Given the description of an element on the screen output the (x, y) to click on. 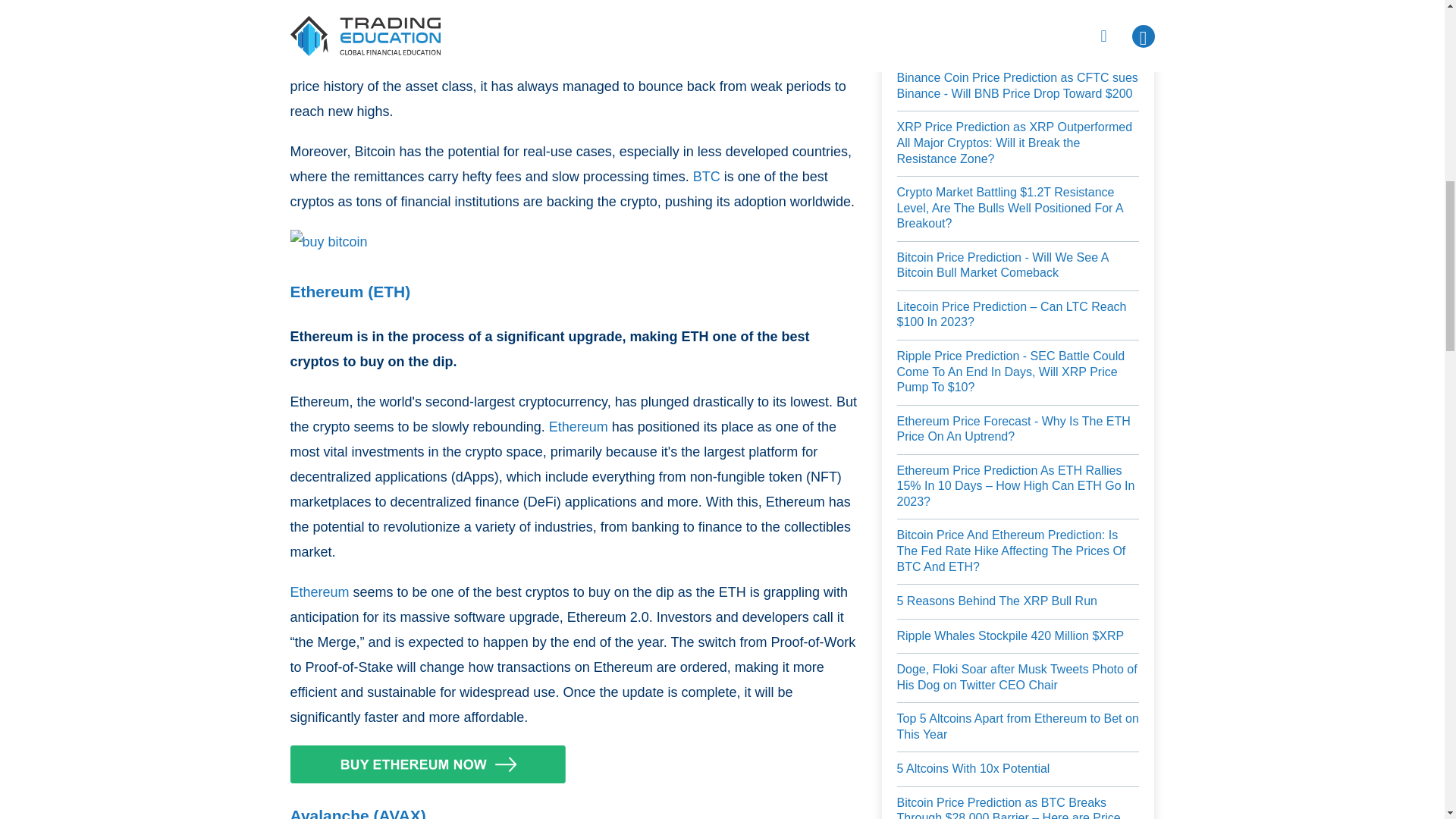
Ethereum (578, 426)
7 Facts About Ethereum That Will Surprise You (578, 426)
Should You Buy Bitcoin? (706, 176)
BTC (706, 176)
Ethereum (319, 592)
Bitcoin (417, 61)
